Given the description of an element on the screen output the (x, y) to click on. 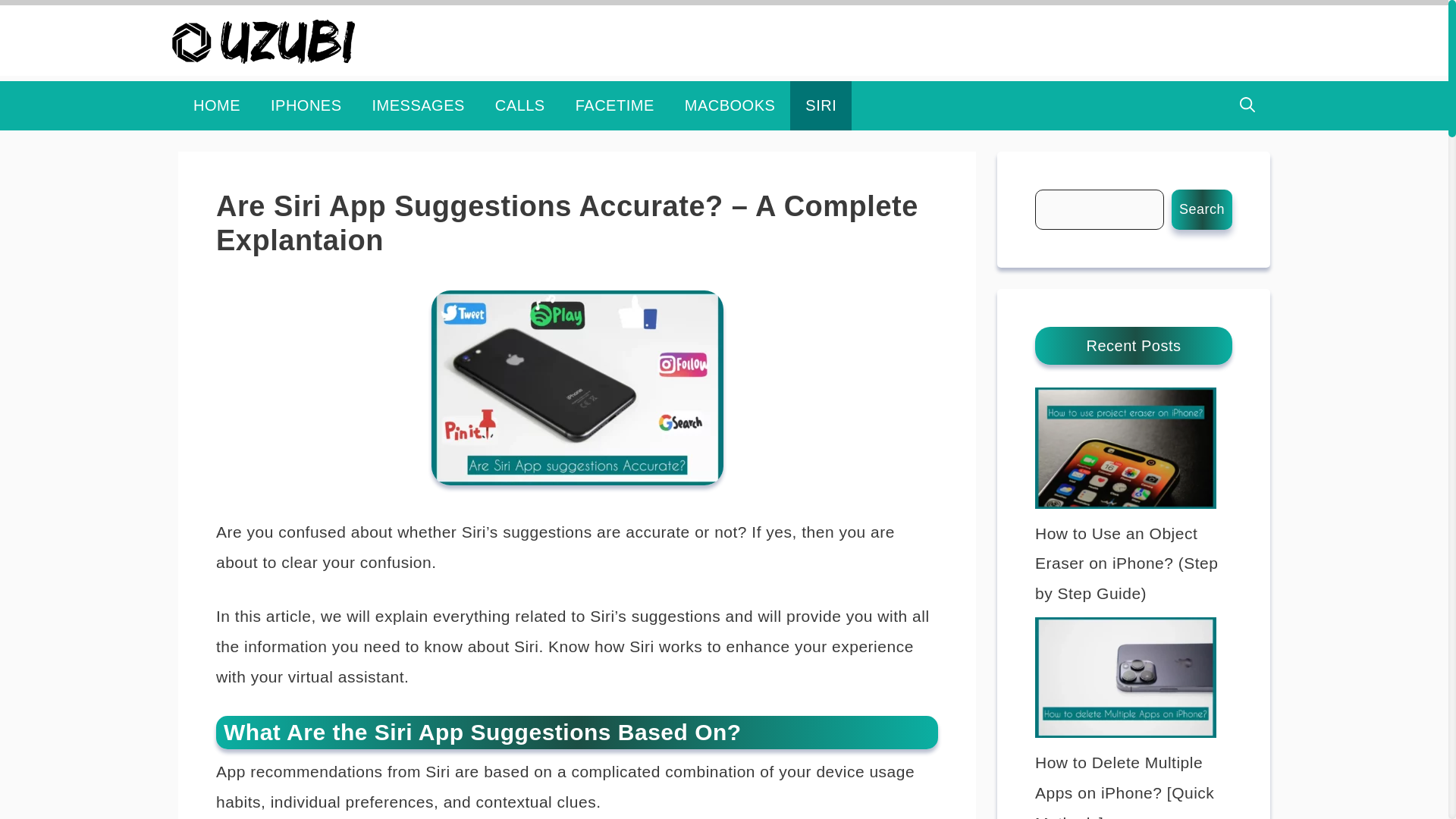
SIRI (820, 105)
FACETIME (614, 105)
CALLS (520, 105)
IPHONES (306, 105)
Search (1201, 209)
MACBOOKS (729, 105)
IMESSAGES (418, 105)
HOME (216, 105)
